Given the description of an element on the screen output the (x, y) to click on. 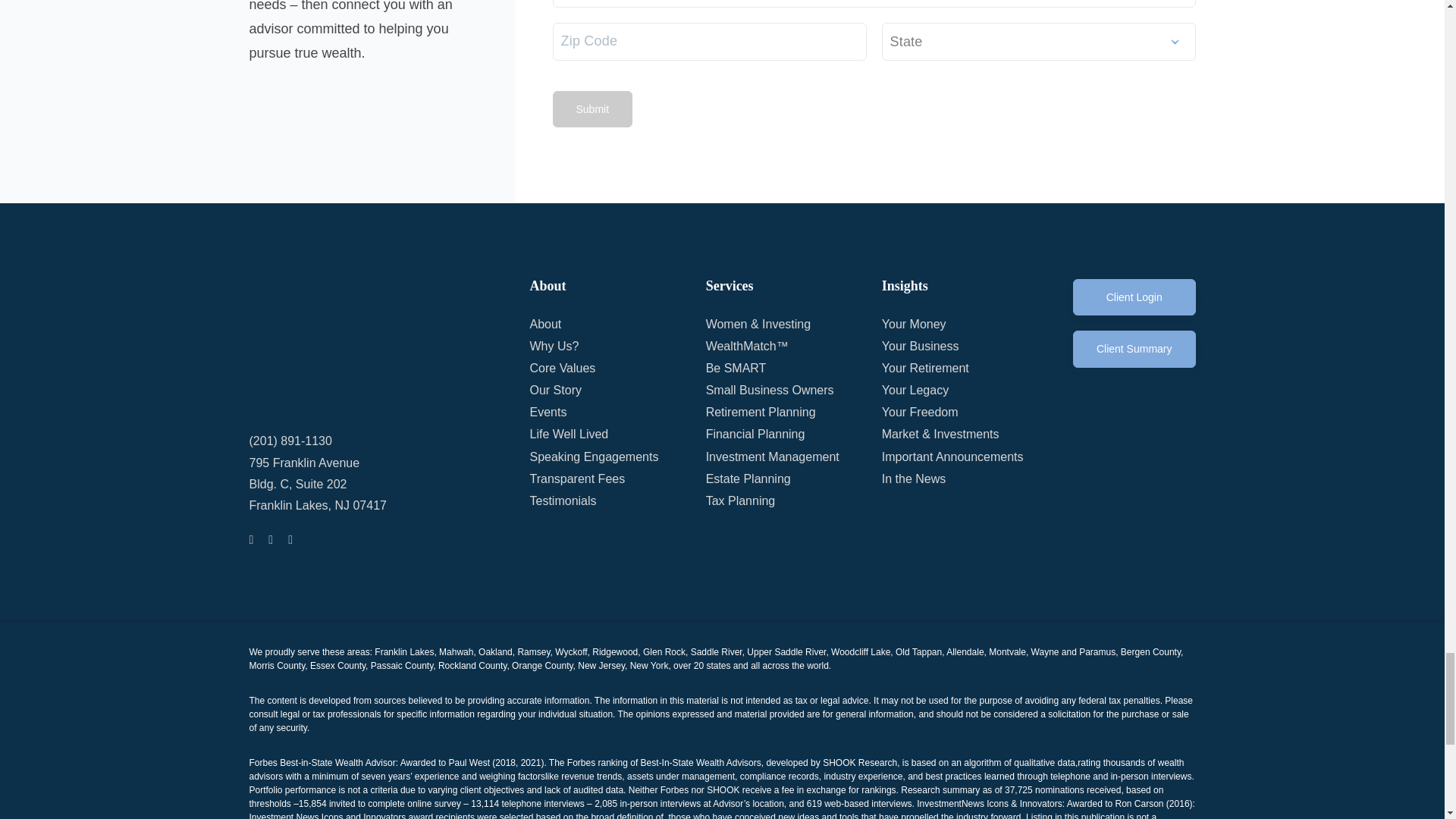
Submit (591, 108)
